Given the description of an element on the screen output the (x, y) to click on. 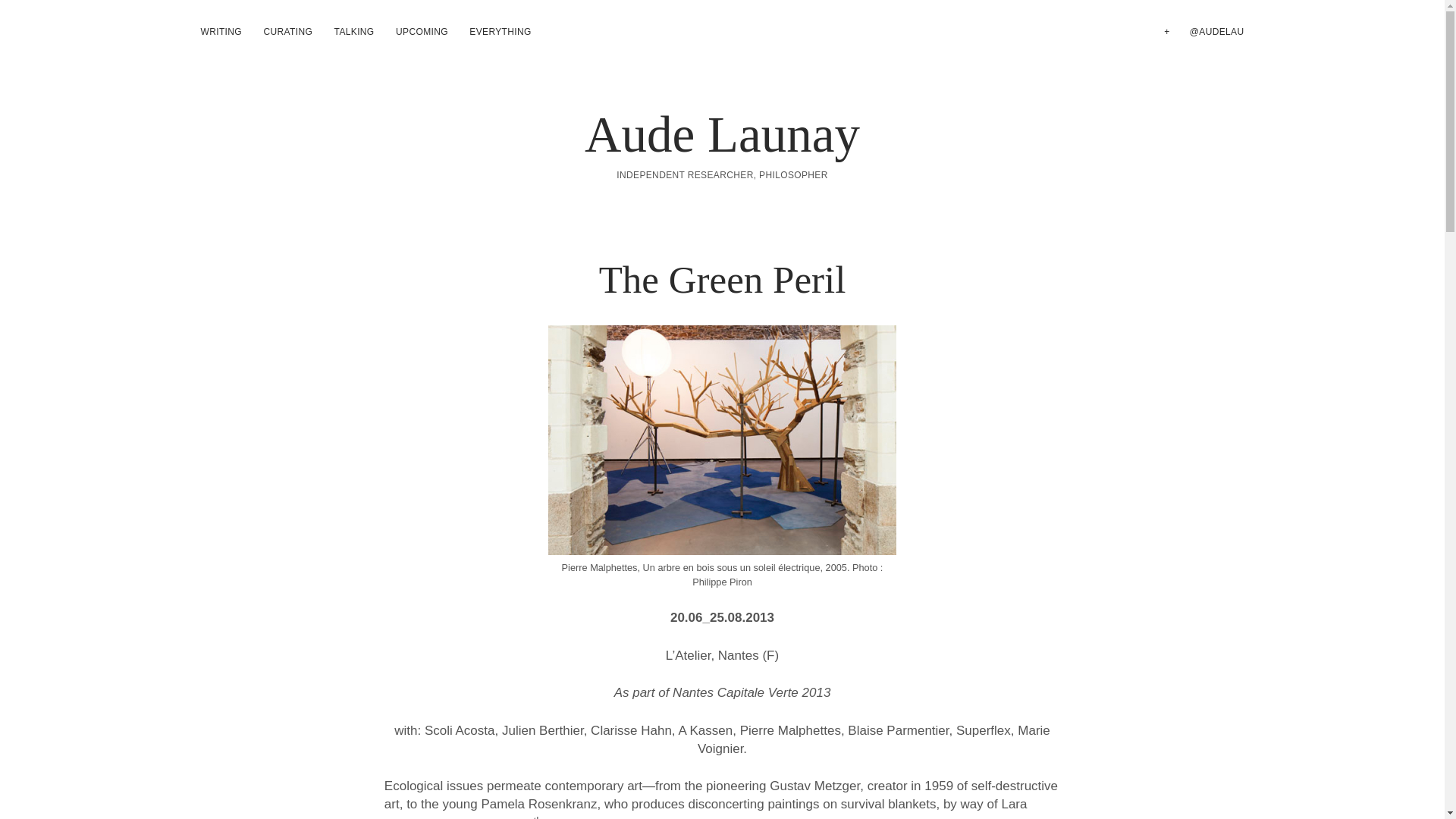
WRITING (220, 31)
UPCOMING (422, 31)
EVERYTHING (500, 31)
CURATING (287, 31)
Aude Launay (722, 134)
TALKING (354, 31)
